Given the description of an element on the screen output the (x, y) to click on. 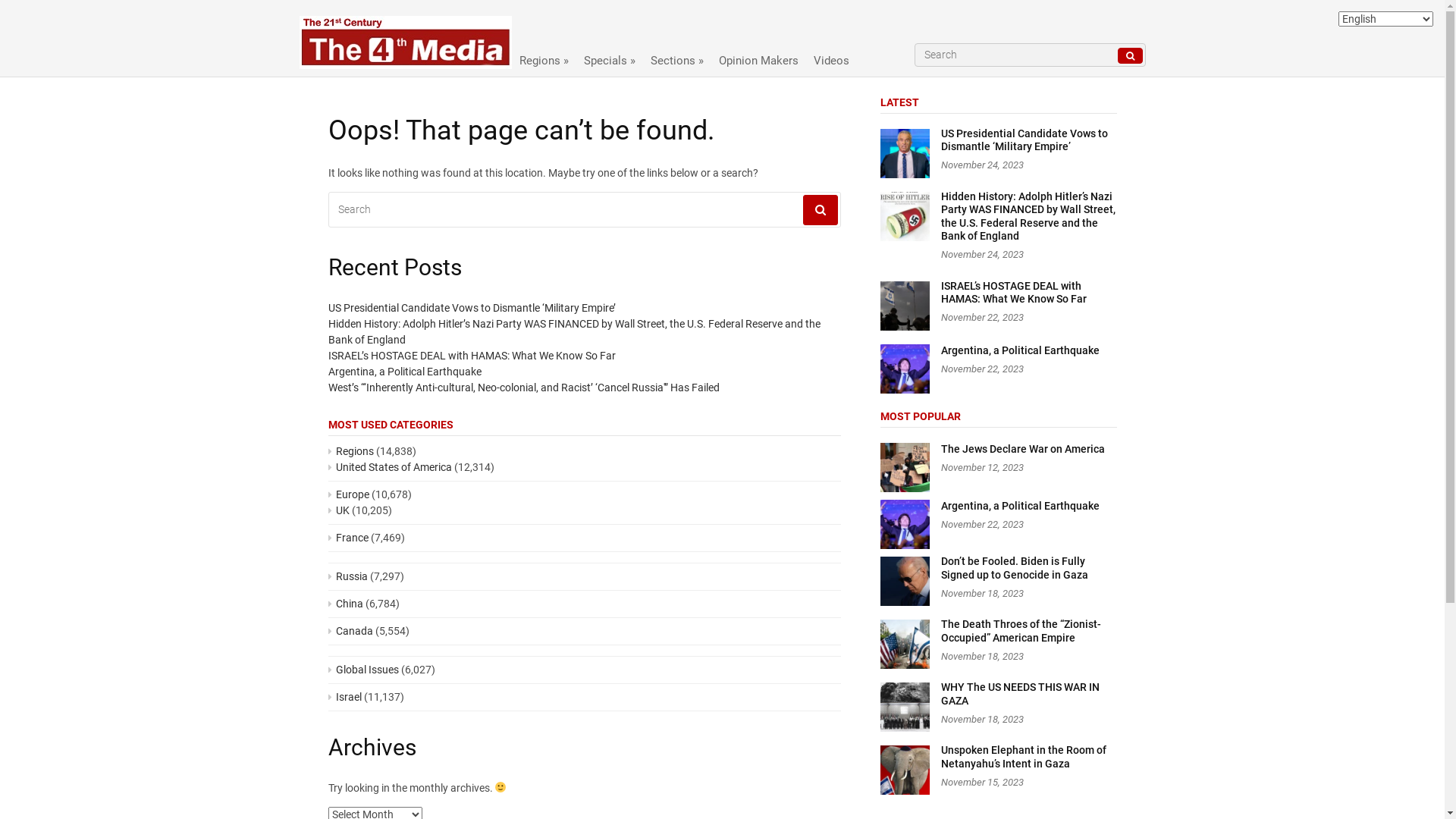
Regions Element type: text (350, 451)
Israel Element type: text (343, 696)
Global Issues Element type: text (362, 669)
WHY The US NEEDS THIS WAR IN GAZA Element type: text (1019, 693)
France Element type: text (347, 537)
United States of America Element type: text (389, 467)
UK Element type: text (337, 510)
The Jews Declare War on America Element type: text (1022, 448)
Videos Element type: text (830, 56)
Europe Element type: text (347, 494)
Argentina, a Political Earthquake Element type: text (1019, 505)
Opinion Makers Element type: text (758, 56)
Russia Element type: text (347, 576)
Argentina, a Political Earthquake Element type: text (1019, 350)
China Element type: text (344, 603)
Argentina, a Political Earthquake Element type: text (403, 371)
Canada Element type: text (349, 630)
